Given the description of an element on the screen output the (x, y) to click on. 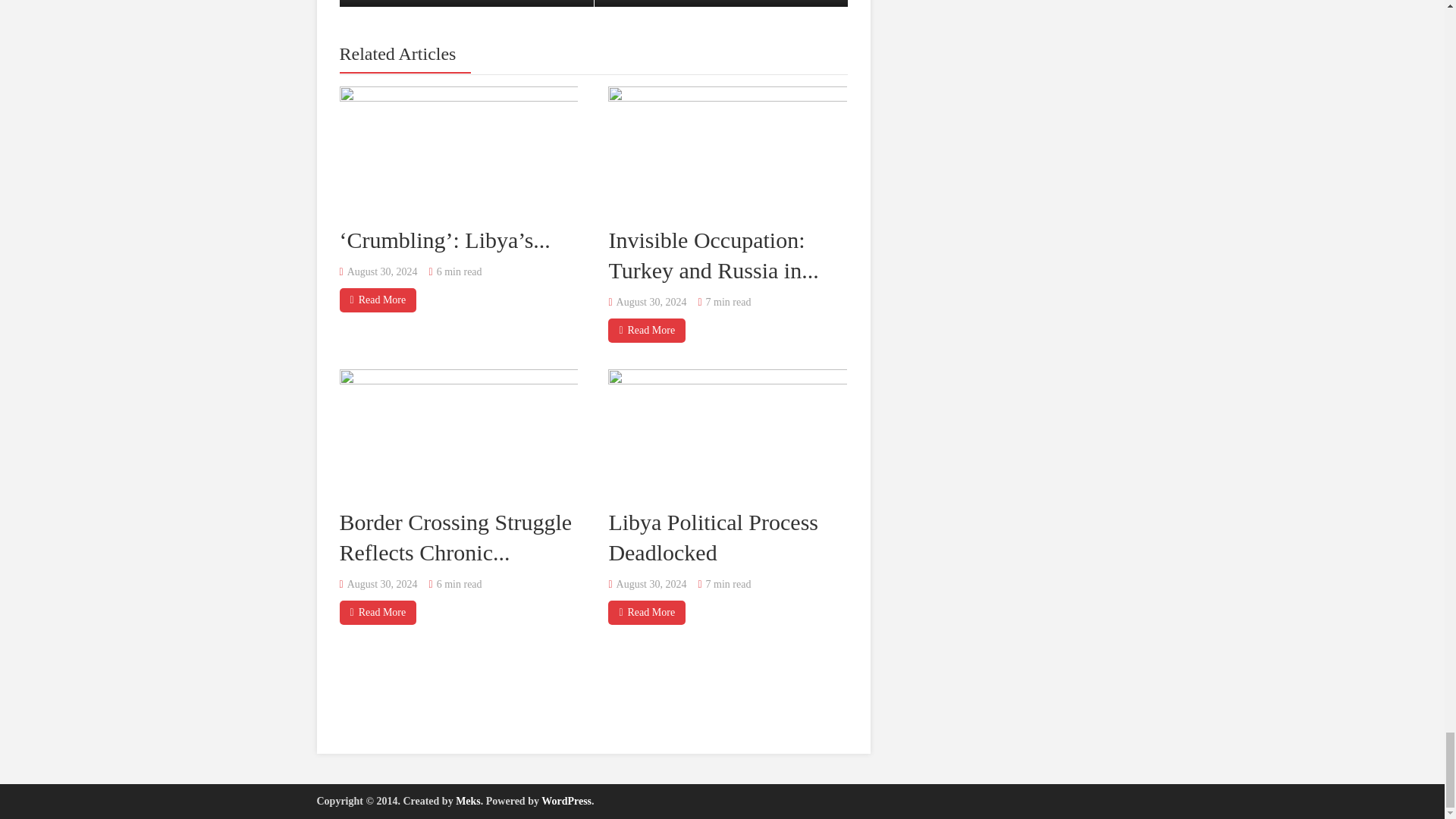
Read More (377, 612)
Read More (646, 612)
Border Crossing Struggle Reflects Chronic... (455, 537)
Read More (646, 329)
Libya Political Process Deadlocked (713, 537)
Read More (377, 299)
Invisible Occupation: Turkey and Russia in... (713, 253)
